Given the description of an element on the screen output the (x, y) to click on. 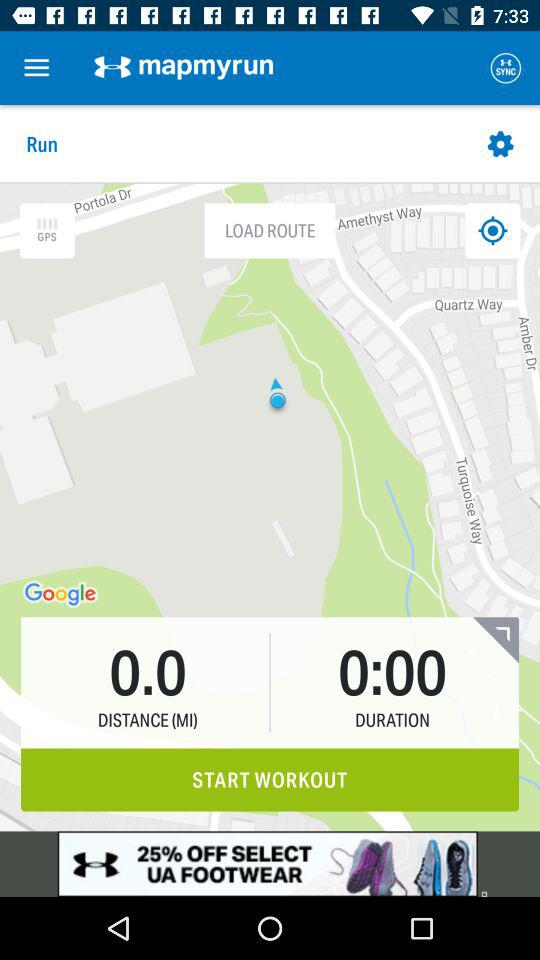
select gps (47, 230)
